Given the description of an element on the screen output the (x, y) to click on. 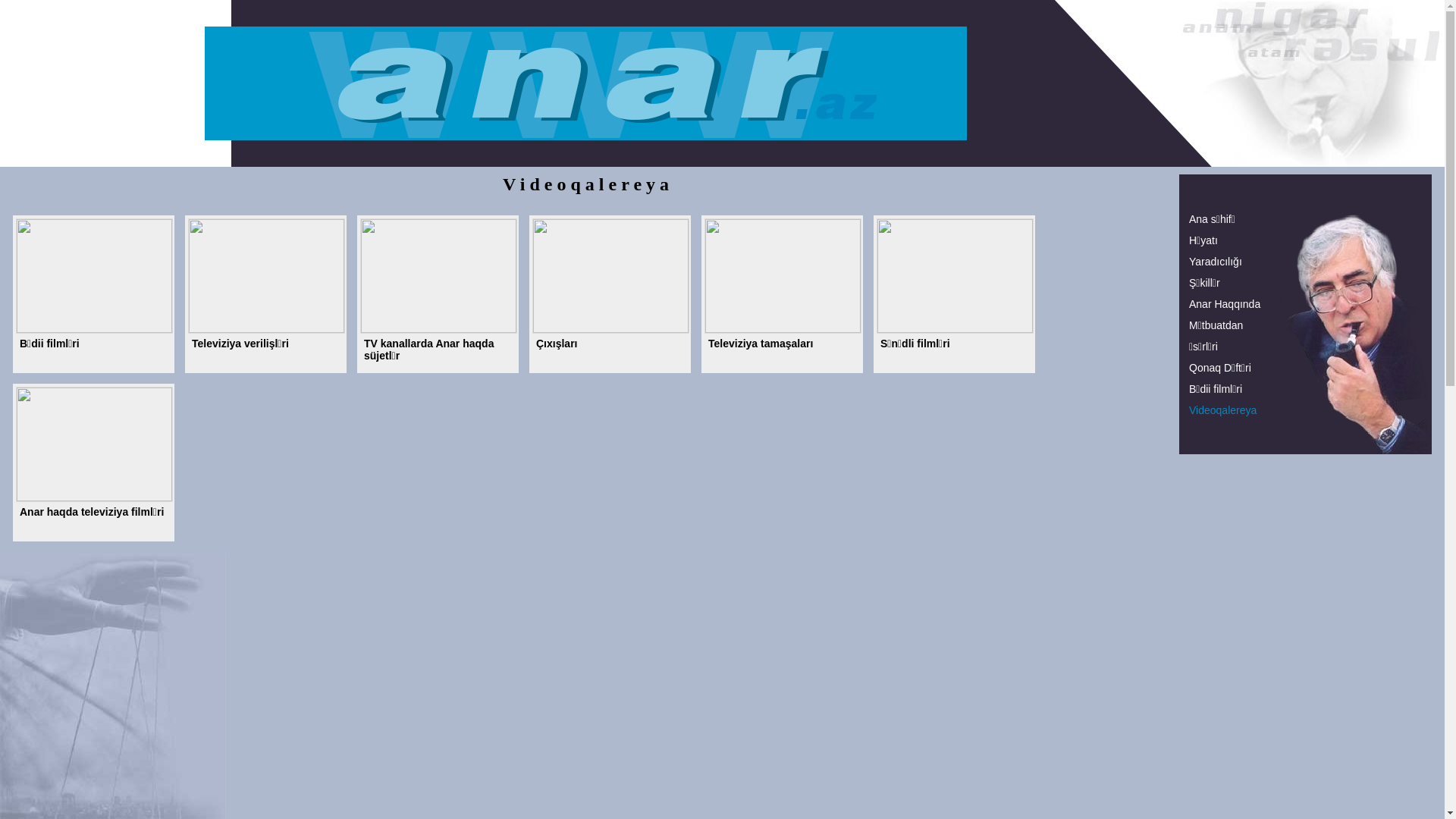
Videoqalereya Element type: text (1222, 409)
